Given the description of an element on the screen output the (x, y) to click on. 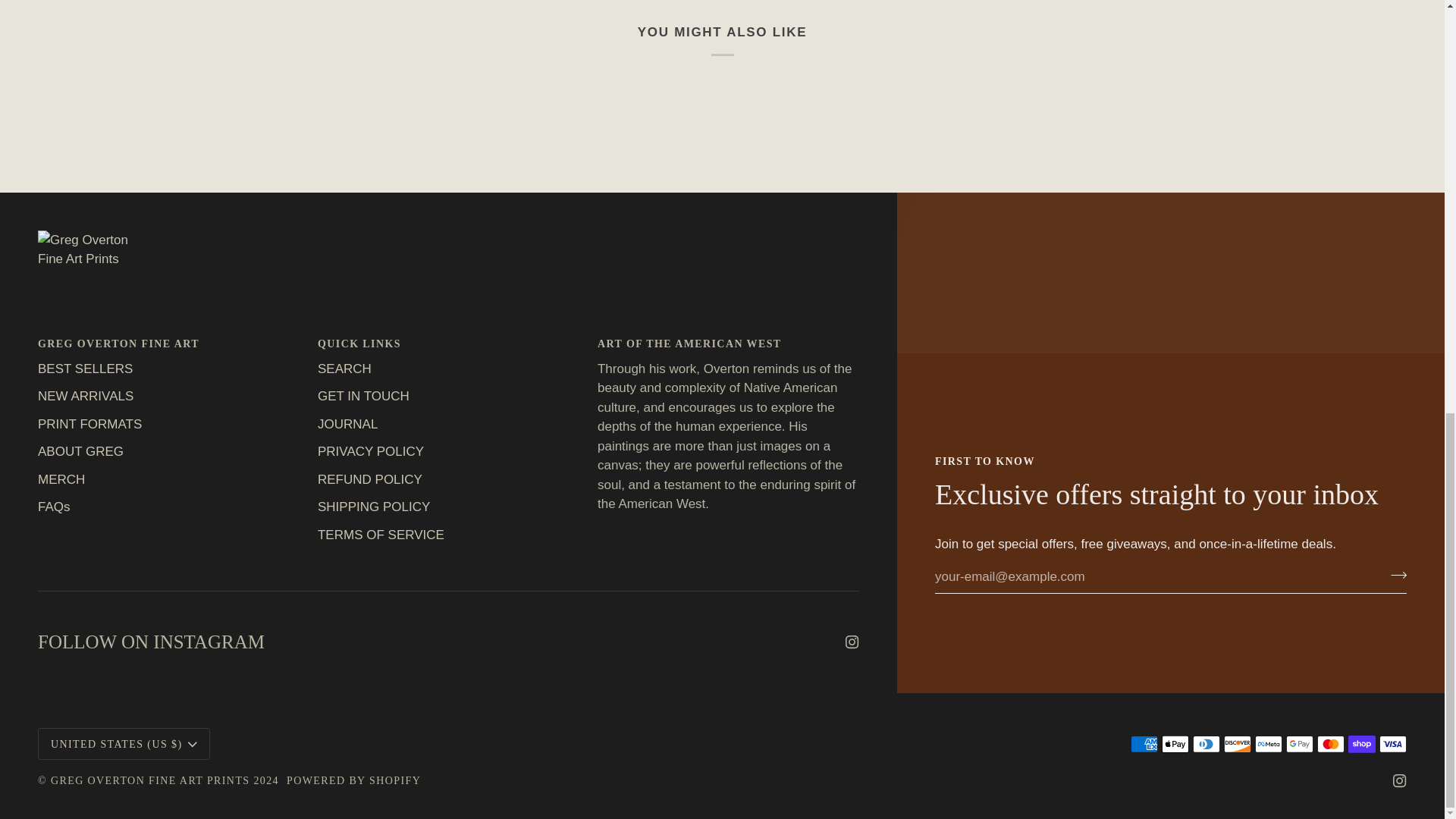
Instagram (852, 642)
MASTERCARD (1330, 743)
SHOP PAY (1361, 743)
Instagram (1399, 780)
DISCOVER (1237, 743)
AMERICAN EXPRESS (1144, 743)
APPLE PAY (1175, 743)
GOOGLE PAY (1299, 743)
META PAY (1268, 743)
DINERS CLUB (1206, 743)
VISA (1392, 743)
